Given the description of an element on the screen output the (x, y) to click on. 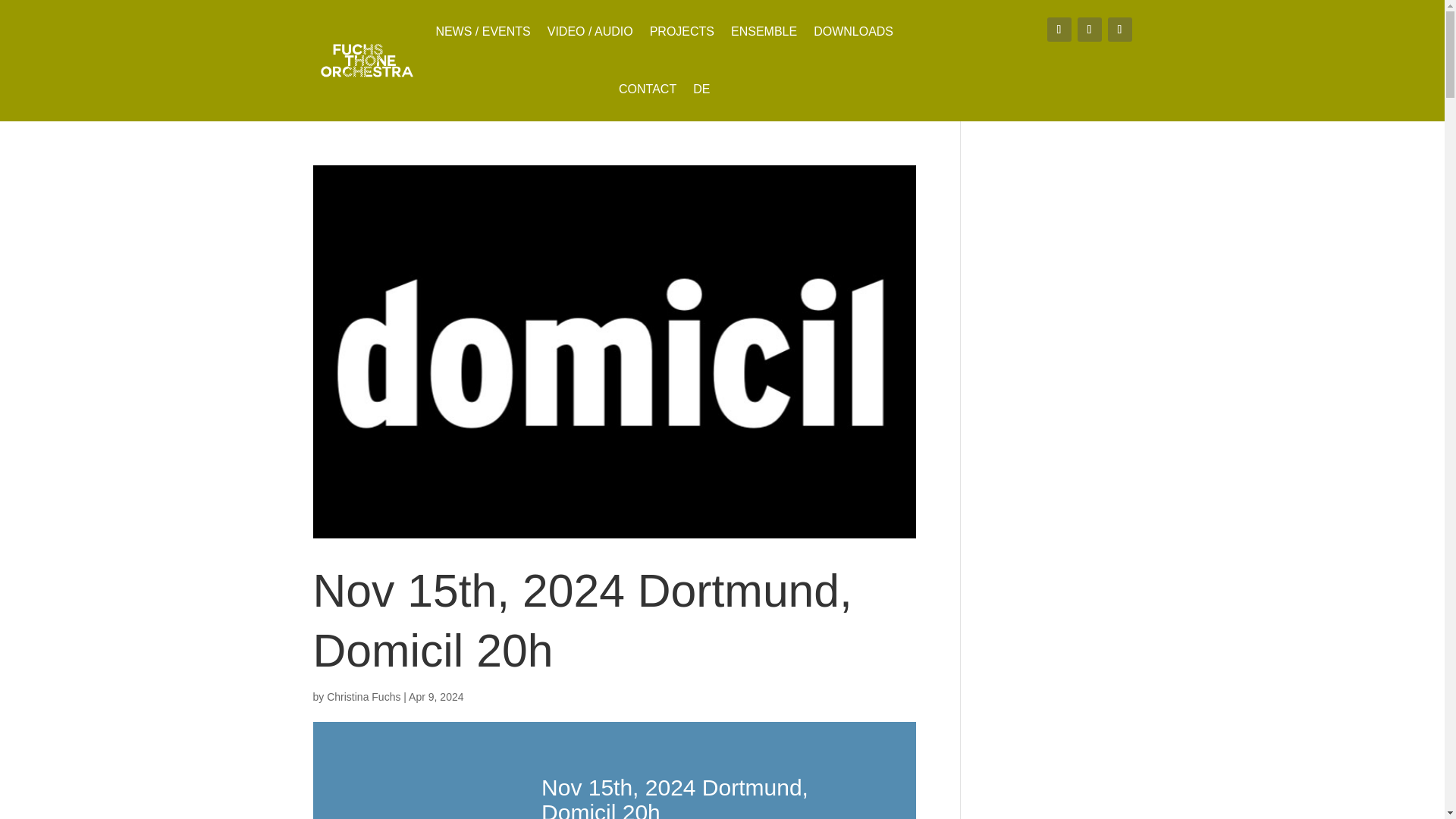
Listen and watch FUCHSTHONEs videos and soundfiles (590, 31)
Nov 15th, 2024 Dortmund, Domicil 20h (582, 620)
More about the musicians and leaders of FUCHSTHONE ORCHESTRA (763, 31)
Christina Fuchs (363, 696)
ENSEMBLE (763, 31)
PROJECTS (681, 31)
Contact details and booking agency of FUCHSTHONE ORCHESTRA (647, 88)
CONTACT (647, 88)
Pressrelease and pictures (853, 31)
All about music projects and FUCHSTHONEs programme (681, 31)
